Given the description of an element on the screen output the (x, y) to click on. 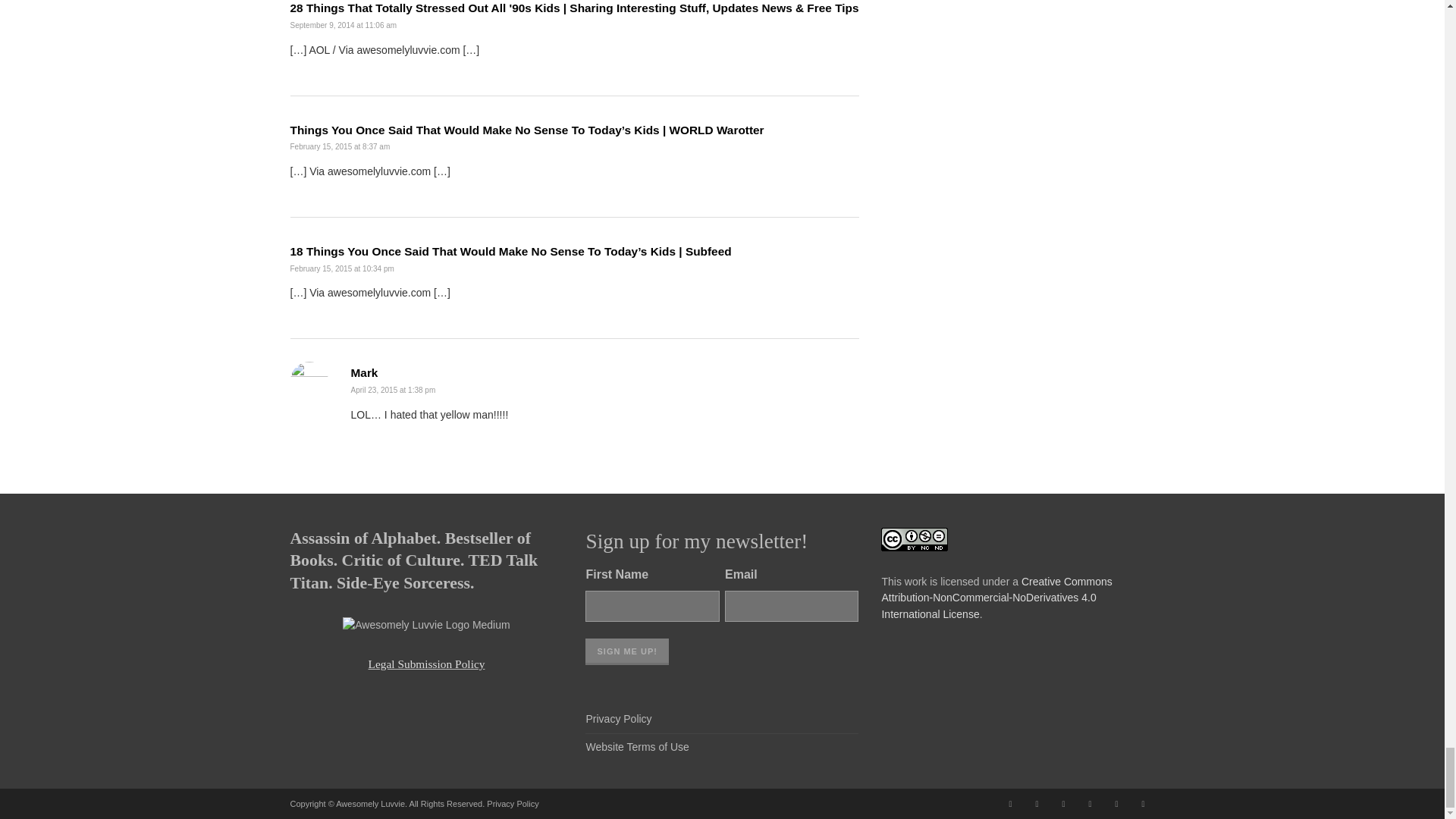
Sign me up! (626, 651)
